Given the description of an element on the screen output the (x, y) to click on. 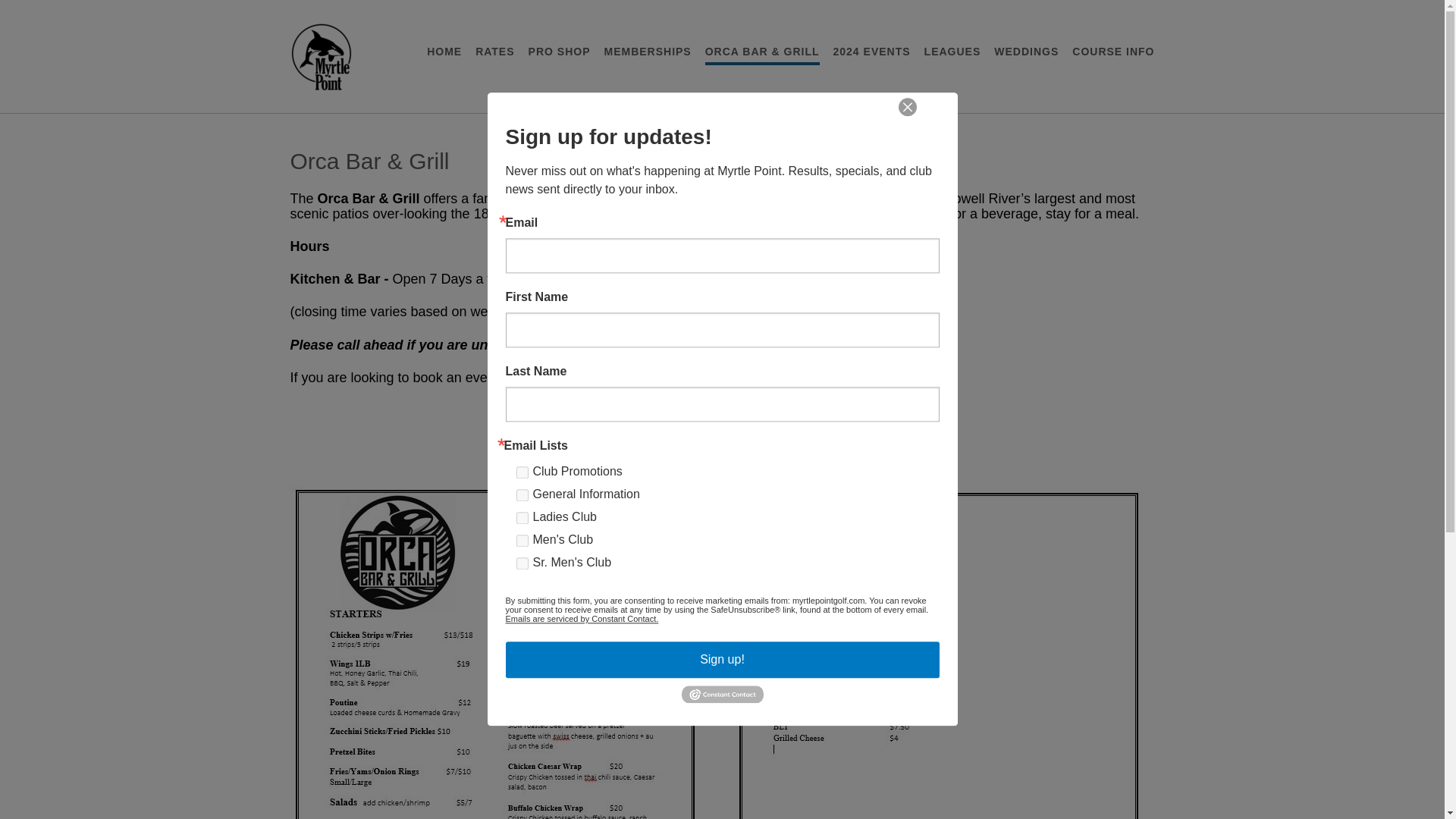
7dee2024-e00b-11ee-8e64-fa163eb2ef2e (521, 517)
 -  (320, 57)
MEMBERSHIPS (647, 51)
86147686-e00b-11ee-9f97-fa163ee2c965 (521, 472)
75ecd384-e00b-11ee-8e64-fa163eb2ef2e (521, 540)
RATES (494, 51)
Emails are serviced by Constant Contact. (581, 618)
43cf316e-e0bd-11ee-af64-fa163e911793 (521, 563)
PRO SHOP (559, 51)
2024 EVENTS (871, 51)
6fa0a476-e0bd-11ee-9836-fa163ee2c965 (521, 494)
WEDDINGS (1026, 51)
HOME (443, 51)
COURSE INFO (1112, 51)
